Given the description of an element on the screen output the (x, y) to click on. 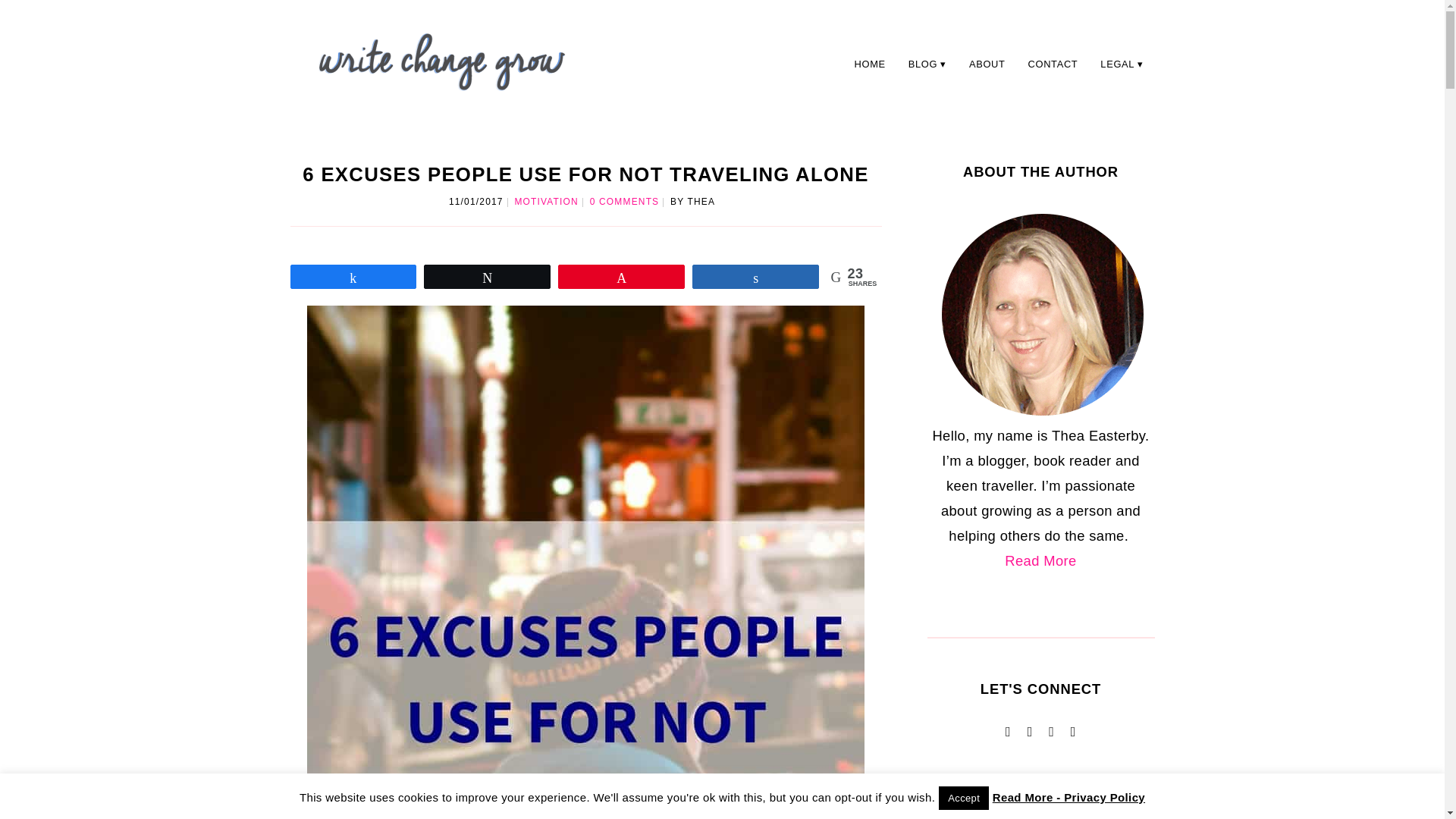
LEGAL (1121, 64)
MOTIVATION (545, 201)
ABOUT (987, 64)
0 COMMENTS (624, 201)
CONTACT (1052, 64)
HOME (869, 64)
6 EXCUSES PEOPLE USE FOR NOT TRAVELING ALONE (584, 174)
6 Excuses People Use For Not Traveling Alone (584, 174)
Write Change Grow (440, 60)
BLOG (927, 64)
